Given the description of an element on the screen output the (x, y) to click on. 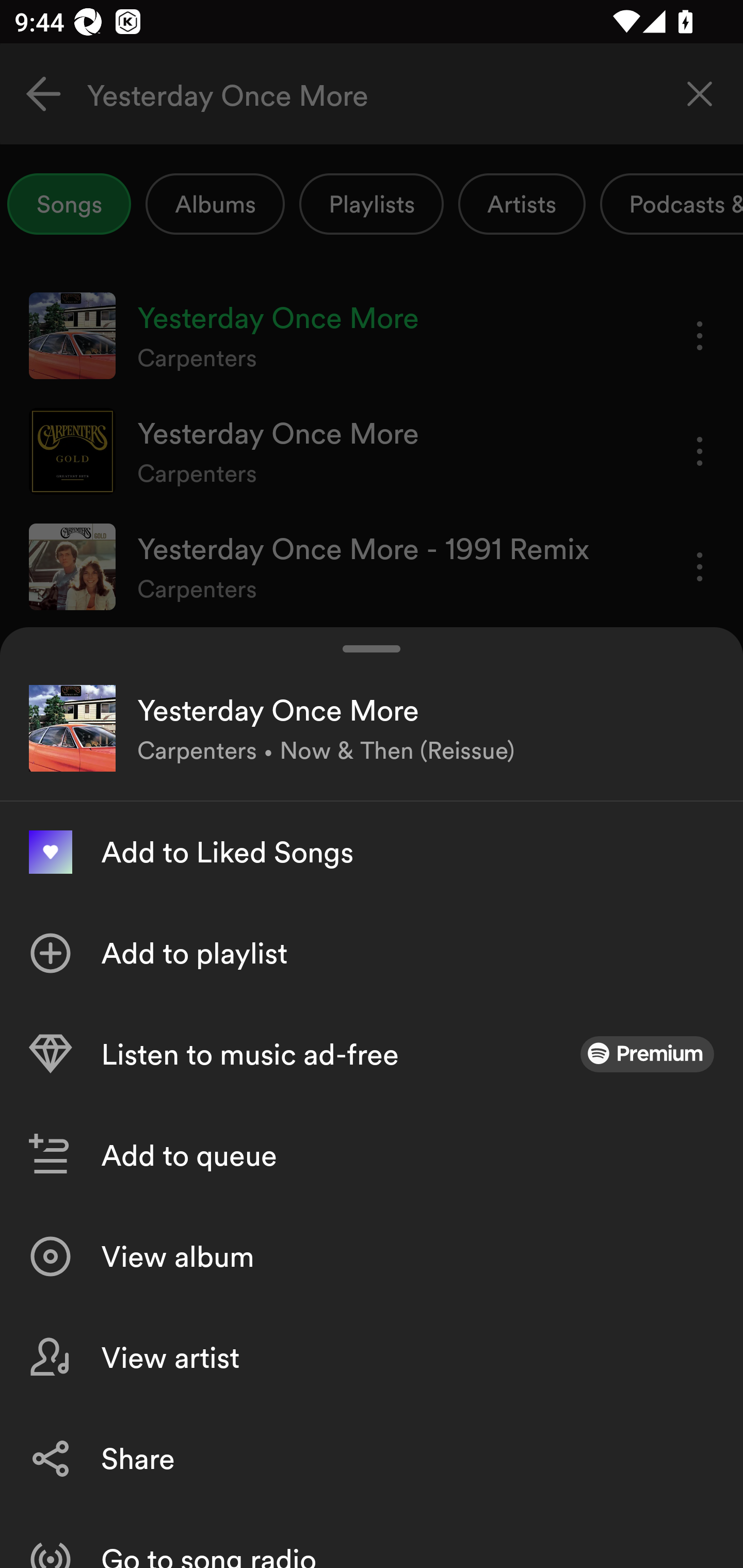
Add to Liked Songs (371, 852)
Add to playlist (371, 953)
Listen to music ad-free (371, 1054)
Add to queue (371, 1155)
View album (371, 1256)
View artist (371, 1357)
Share (371, 1458)
